Given the description of an element on the screen output the (x, y) to click on. 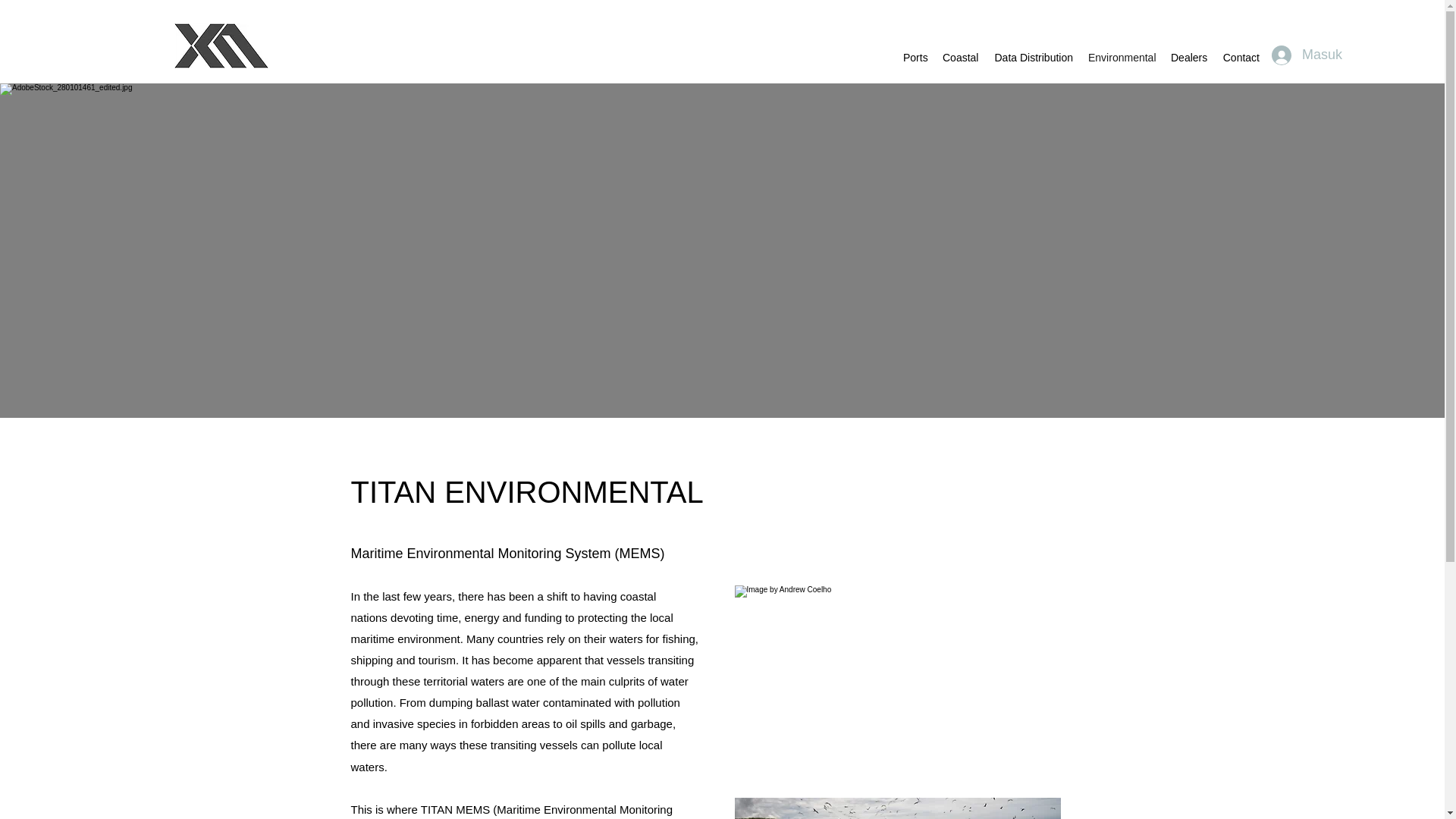
Contact (1240, 56)
Coastal (959, 56)
Dealers (1188, 56)
Ports (914, 56)
Masuk (1291, 55)
Environmental (1121, 56)
Data Distribution (1032, 56)
